Given the description of an element on the screen output the (x, y) to click on. 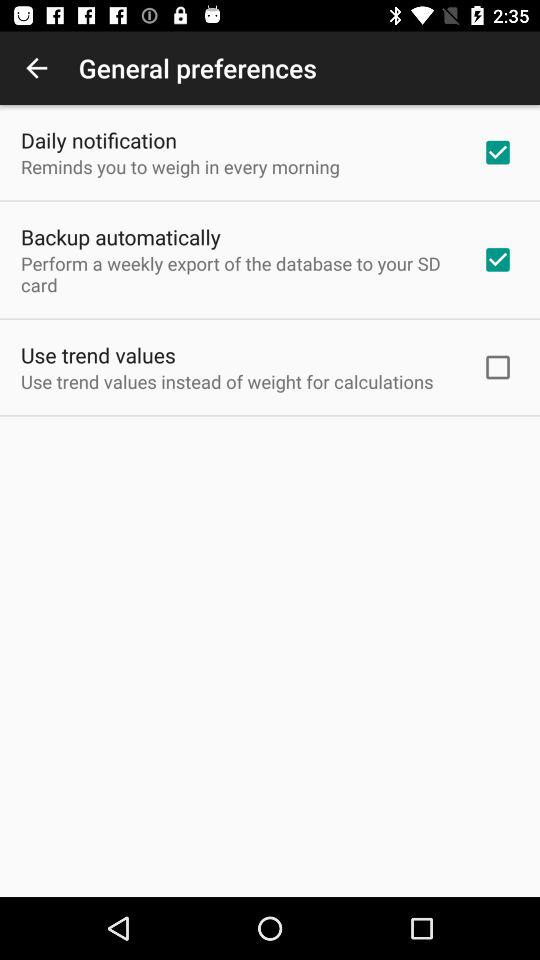
tap daily notification item (98, 139)
